Given the description of an element on the screen output the (x, y) to click on. 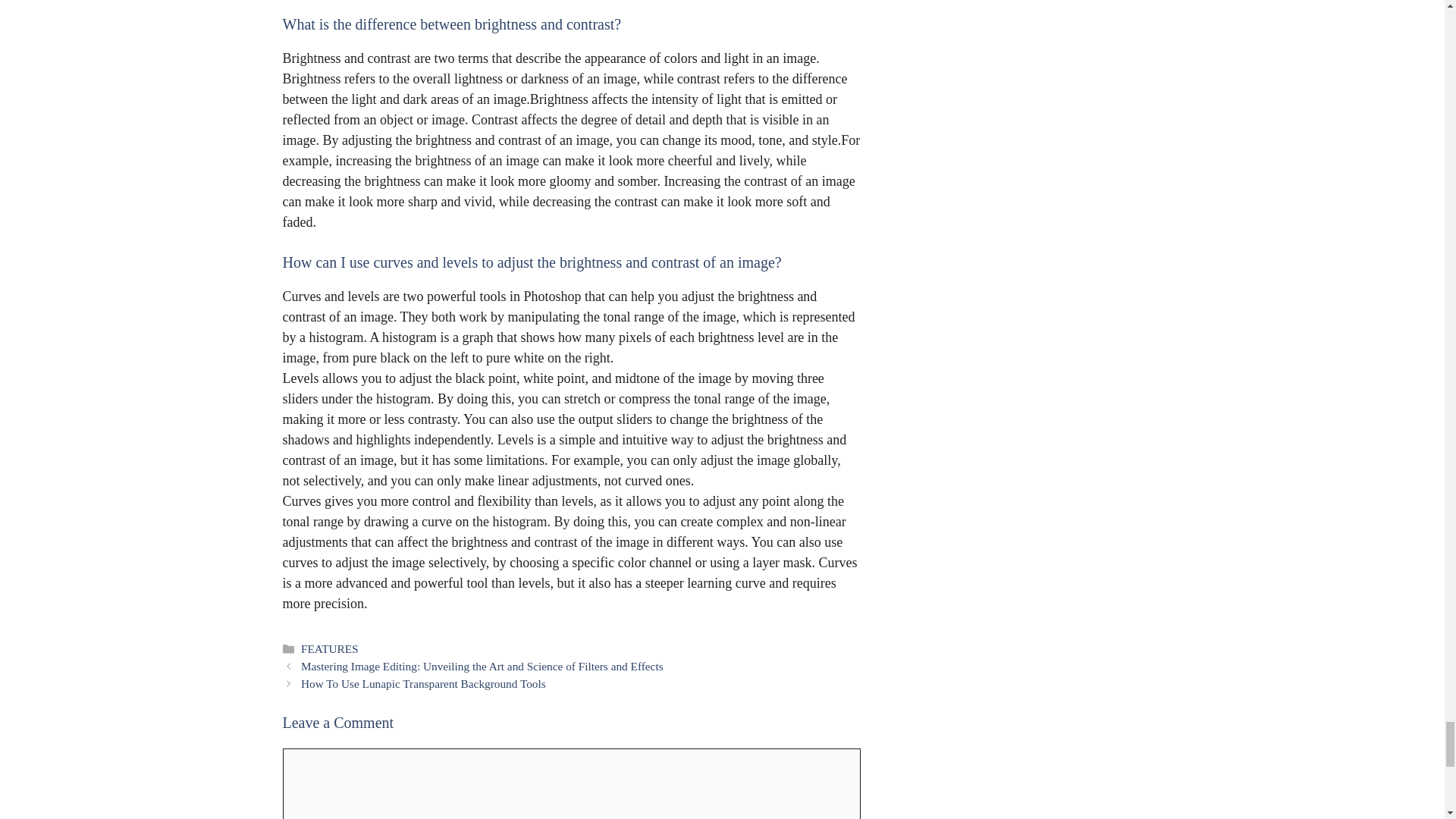
FEATURES (329, 648)
How To Use Lunapic Transparent Background Tools (423, 683)
